Given the description of an element on the screen output the (x, y) to click on. 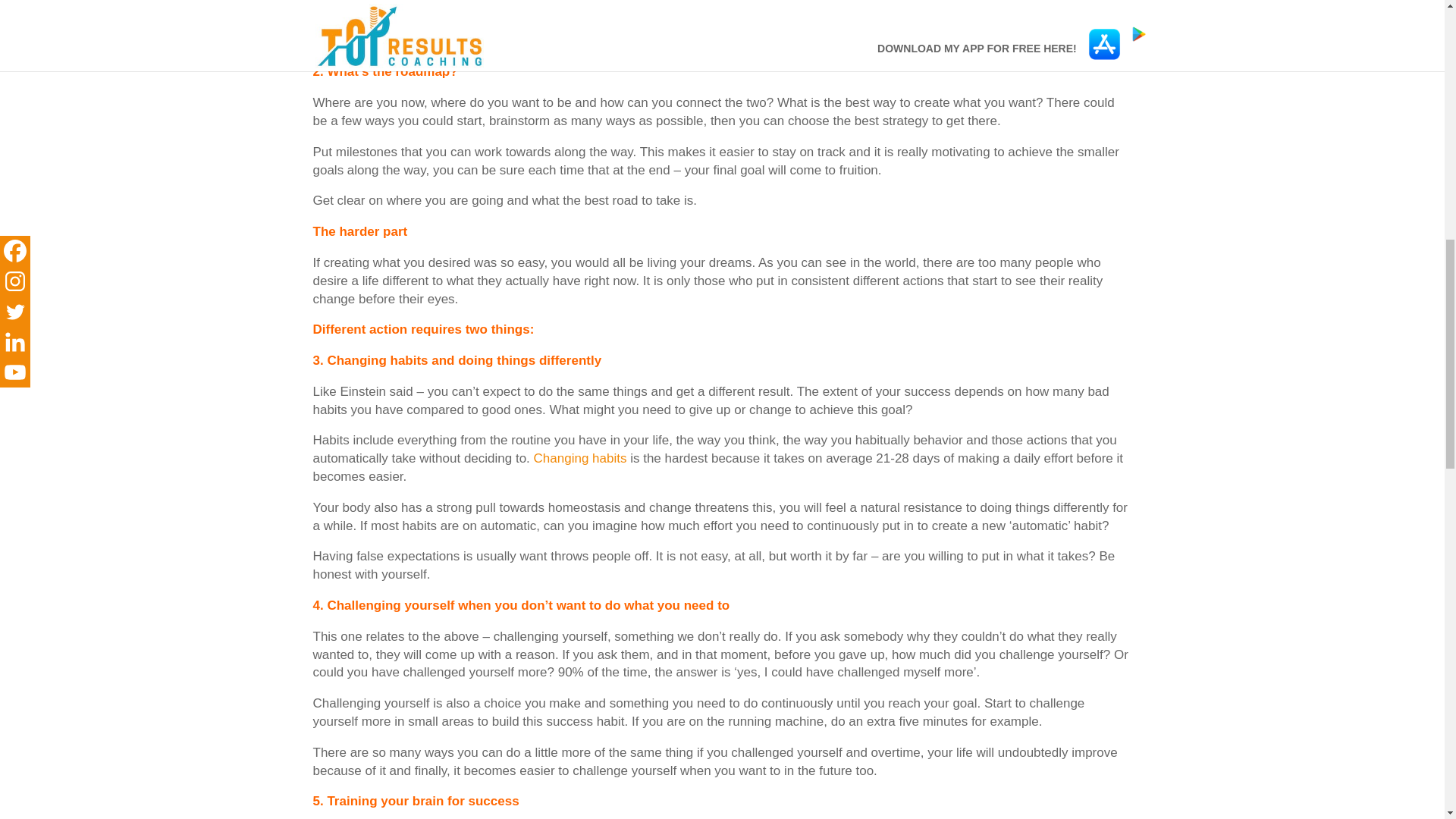
Changing habits (580, 458)
